Given the description of an element on the screen output the (x, y) to click on. 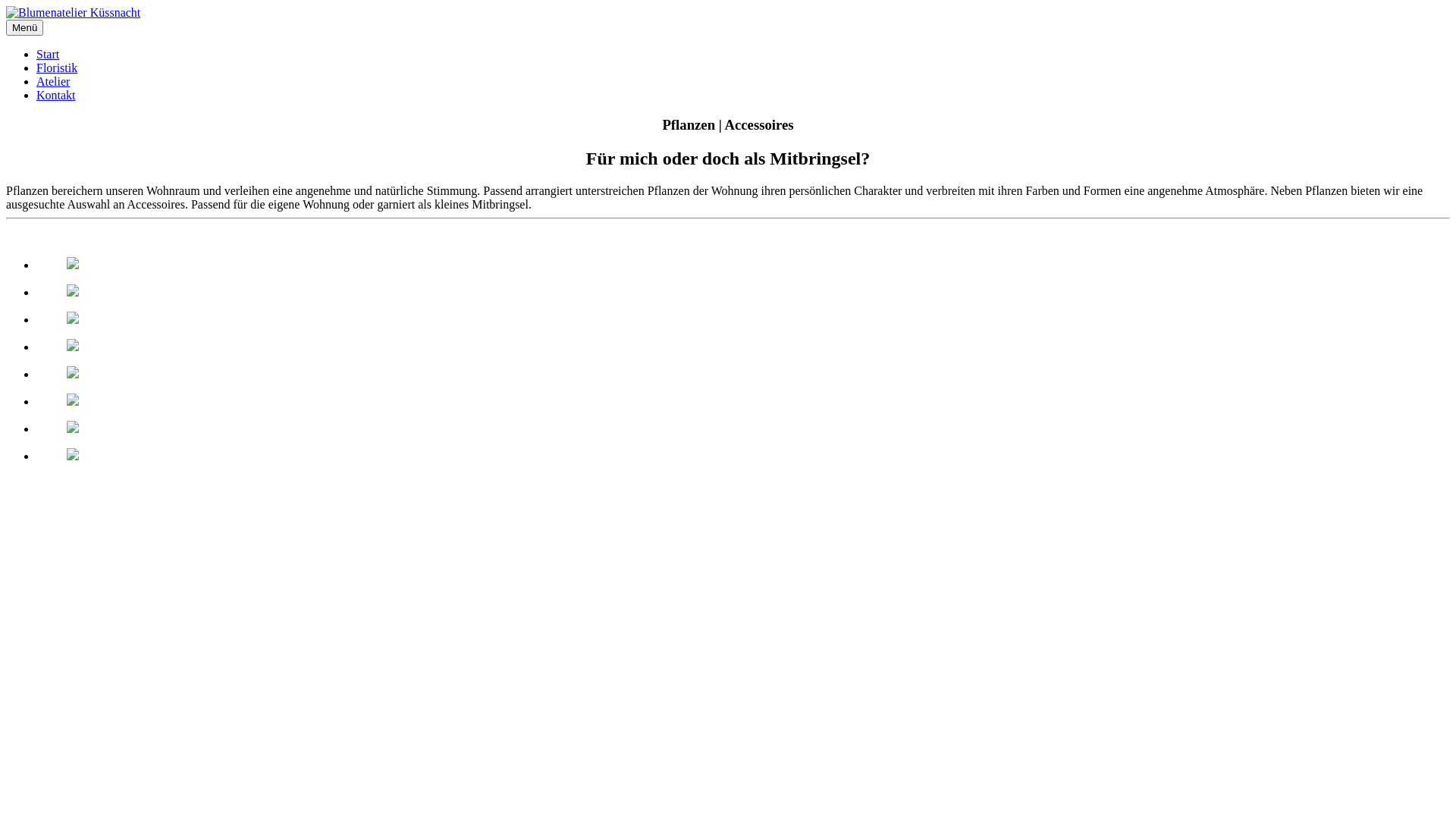
Kontakt Element type: text (55, 94)
Start Element type: text (47, 53)
Floristik Element type: text (56, 67)
Atelier Element type: text (52, 81)
